Given the description of an element on the screen output the (x, y) to click on. 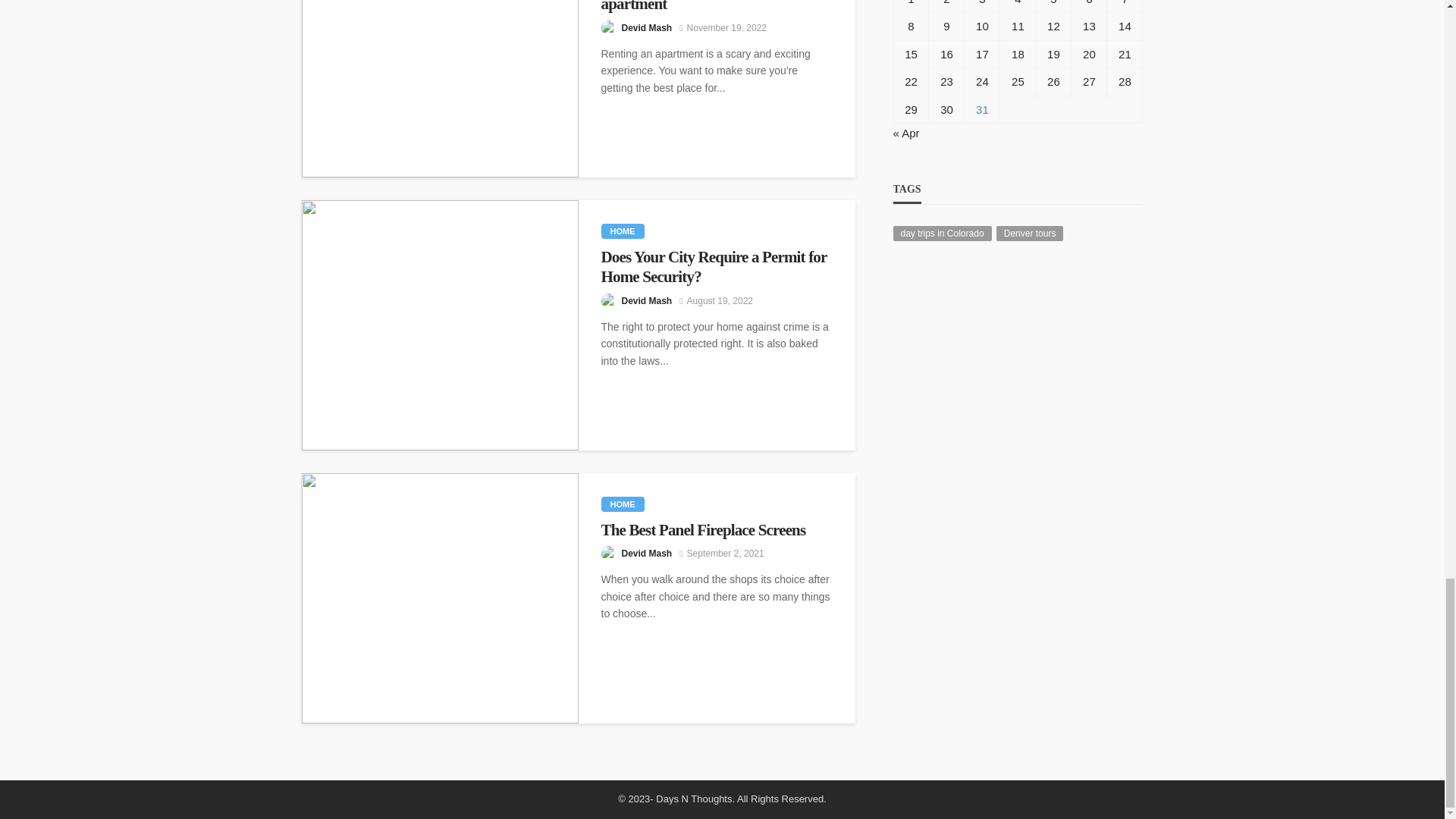
Does Your City Require a Permit for Home Security? (439, 324)
Things to look for while renting an apartment (715, 7)
Things to look for while renting an apartment (439, 88)
Home (621, 231)
